Given the description of an element on the screen output the (x, y) to click on. 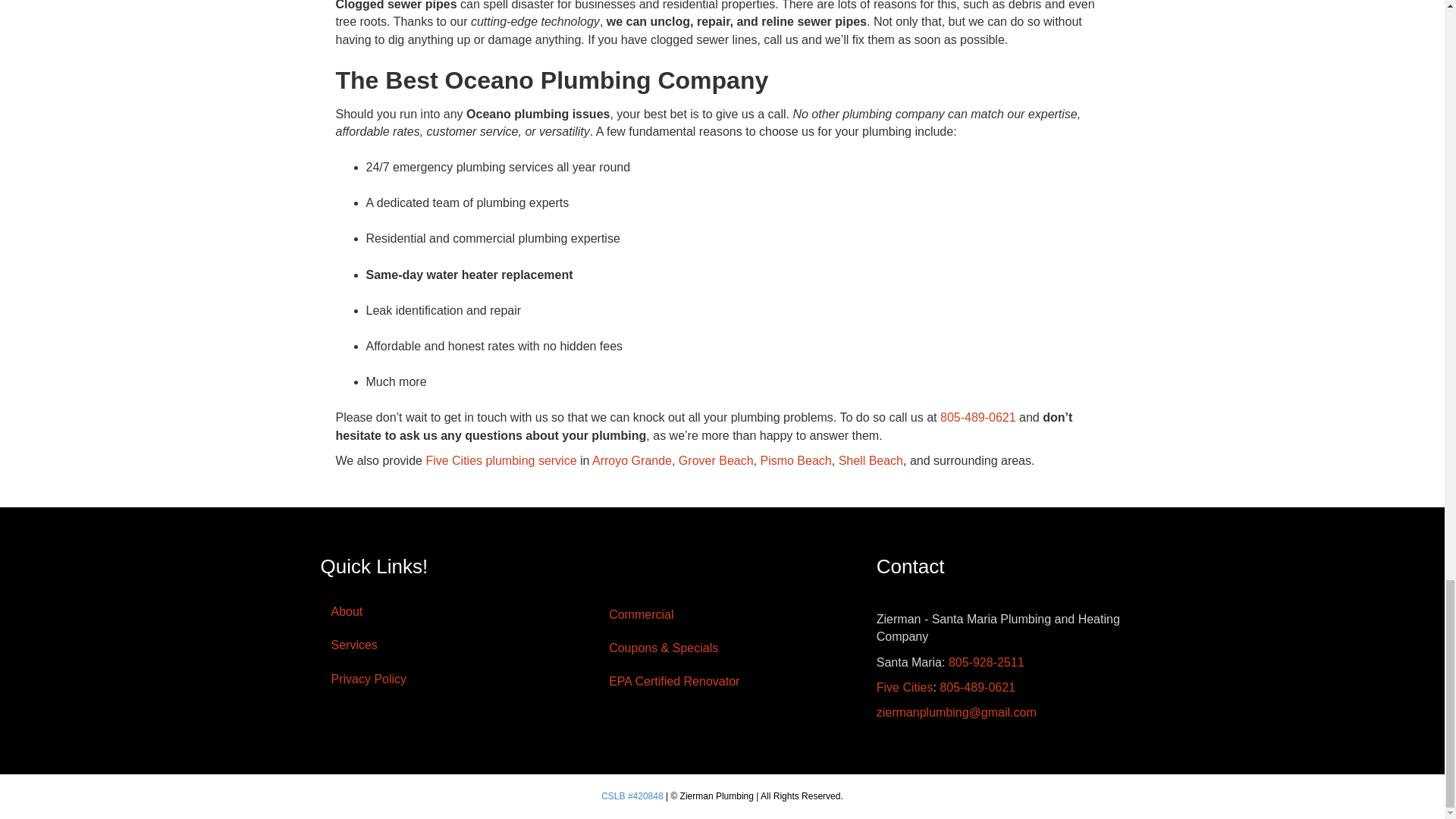
Five Cities plumbing service (500, 460)
Shell Beach (870, 460)
Grover Beach (716, 460)
Pismo Beach (795, 460)
Arroyo Grande (631, 460)
805-489-0621 (978, 417)
